Given the description of an element on the screen output the (x, y) to click on. 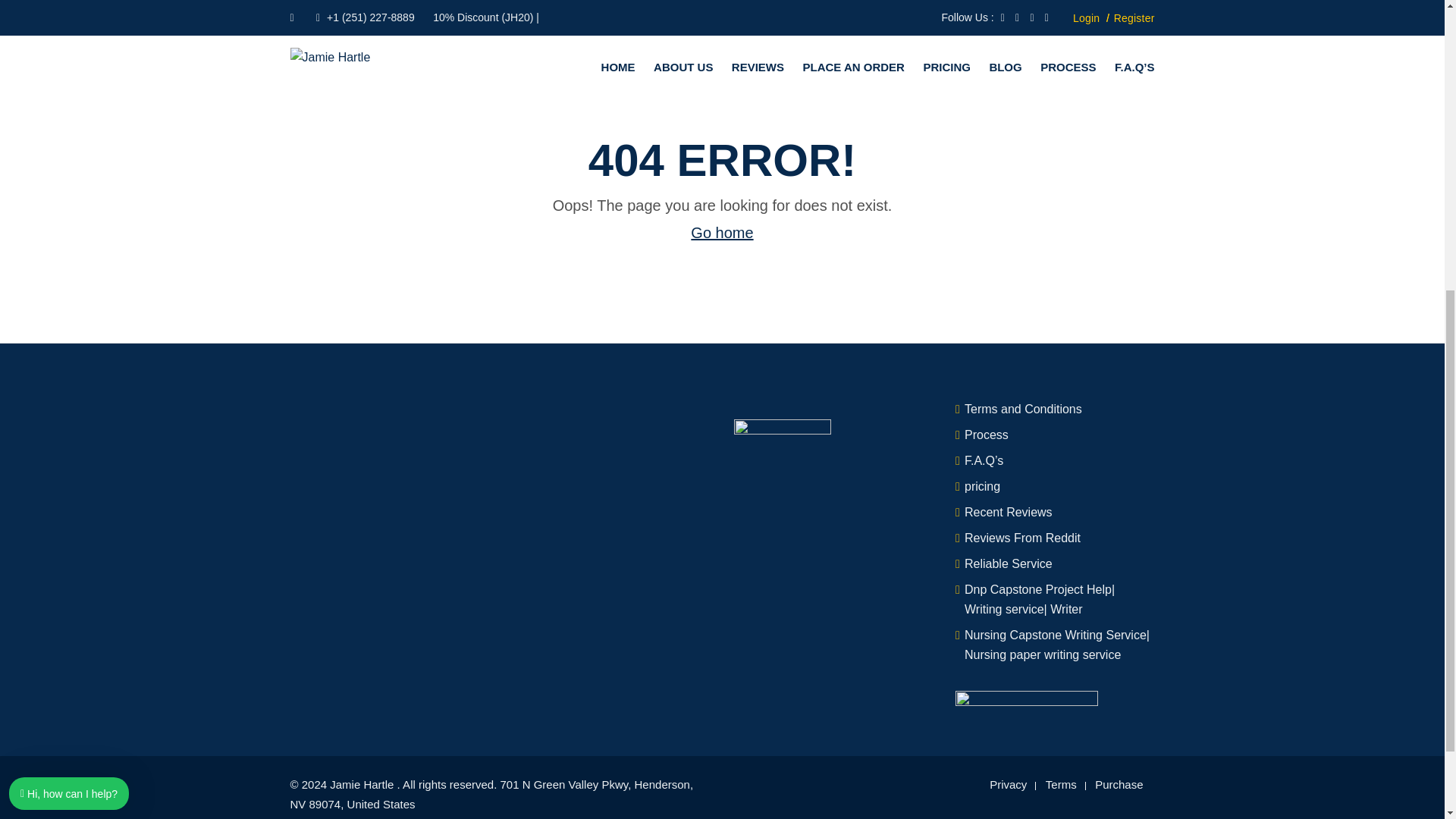
Go home (721, 232)
Reviews From Reddit (1021, 537)
Purchase (1118, 784)
Terms and Conditions (1022, 408)
Terms (1061, 784)
Recent Reviews (1007, 512)
Process (986, 434)
pricing (981, 486)
Reliable Service (1007, 563)
Privacy (1008, 784)
